Given the description of an element on the screen output the (x, y) to click on. 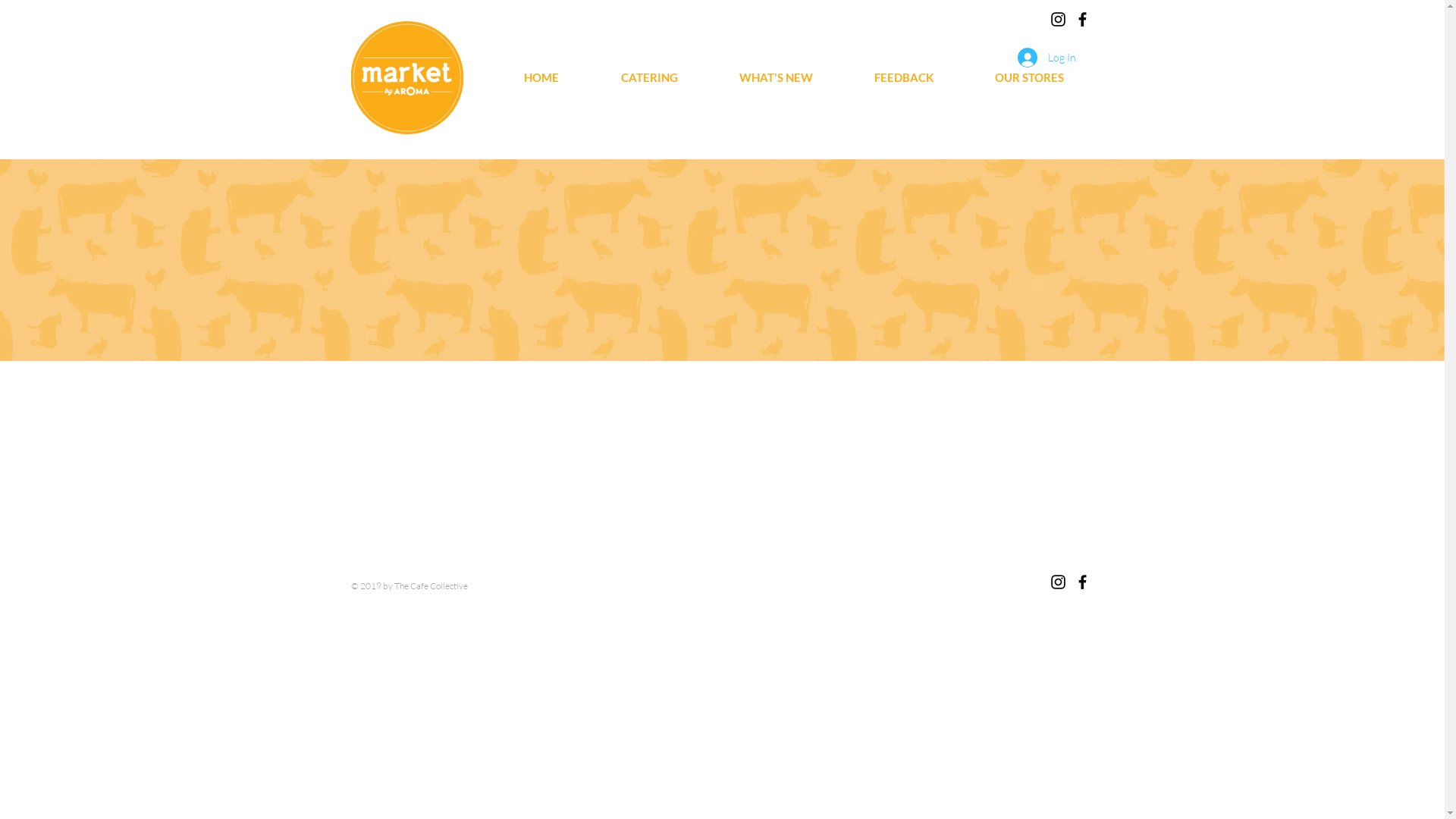
WHAT'S NEW Element type: text (775, 77)
Log In Element type: text (1046, 57)
CATERING Element type: text (648, 77)
FEEDBACK Element type: text (903, 77)
OUR STORES Element type: text (1028, 77)
HOME Element type: text (540, 77)
